Given the description of an element on the screen output the (x, y) to click on. 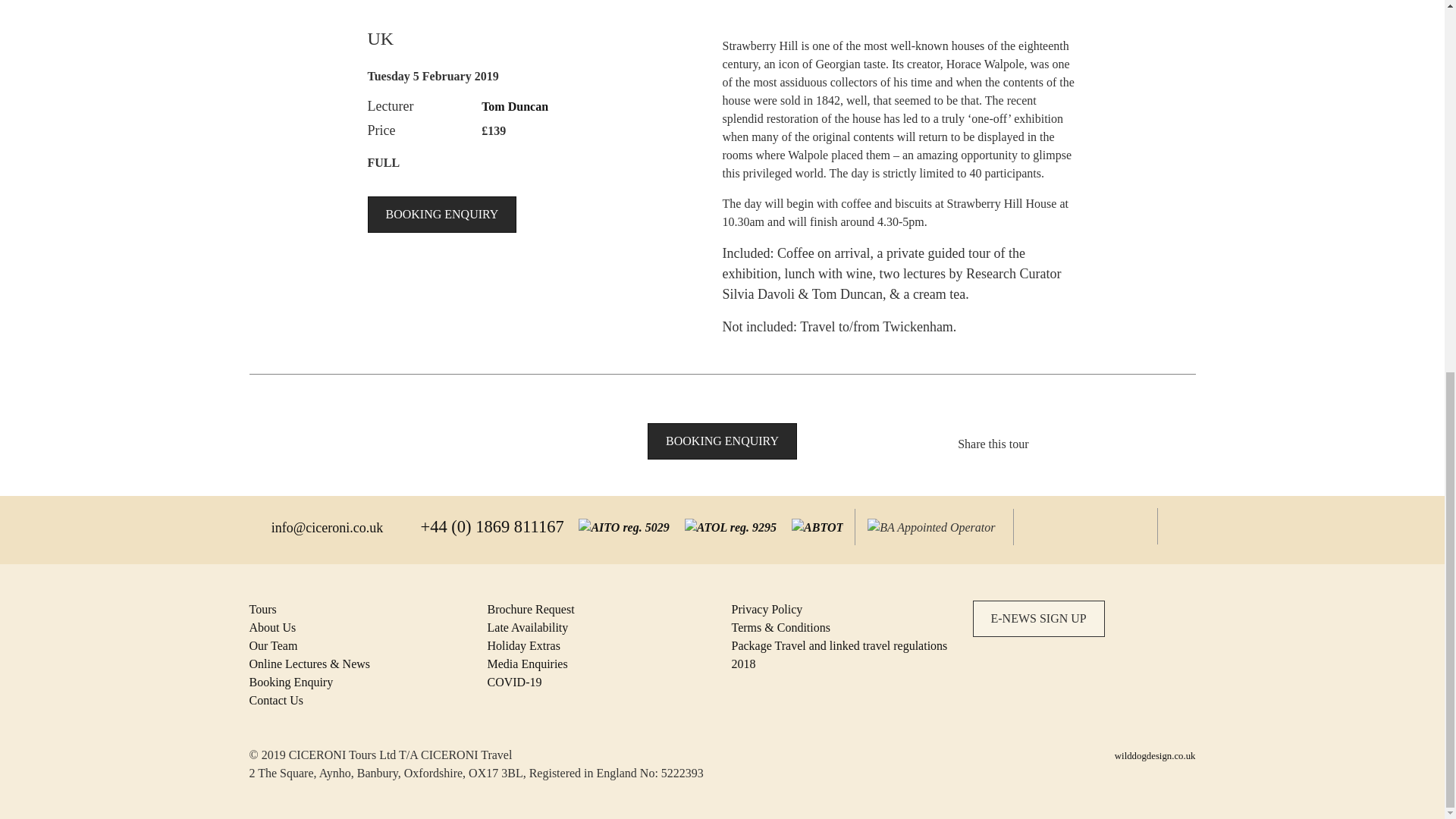
ABTOT (842, 526)
ATOL reg. 9295 (802, 526)
BA Appointed Operator (938, 527)
BOOKING ENQUIRY (441, 214)
BOOKING ENQUIRY (721, 441)
Tom Duncan (514, 106)
AITO reg. 5029 (764, 526)
